Given the description of an element on the screen output the (x, y) to click on. 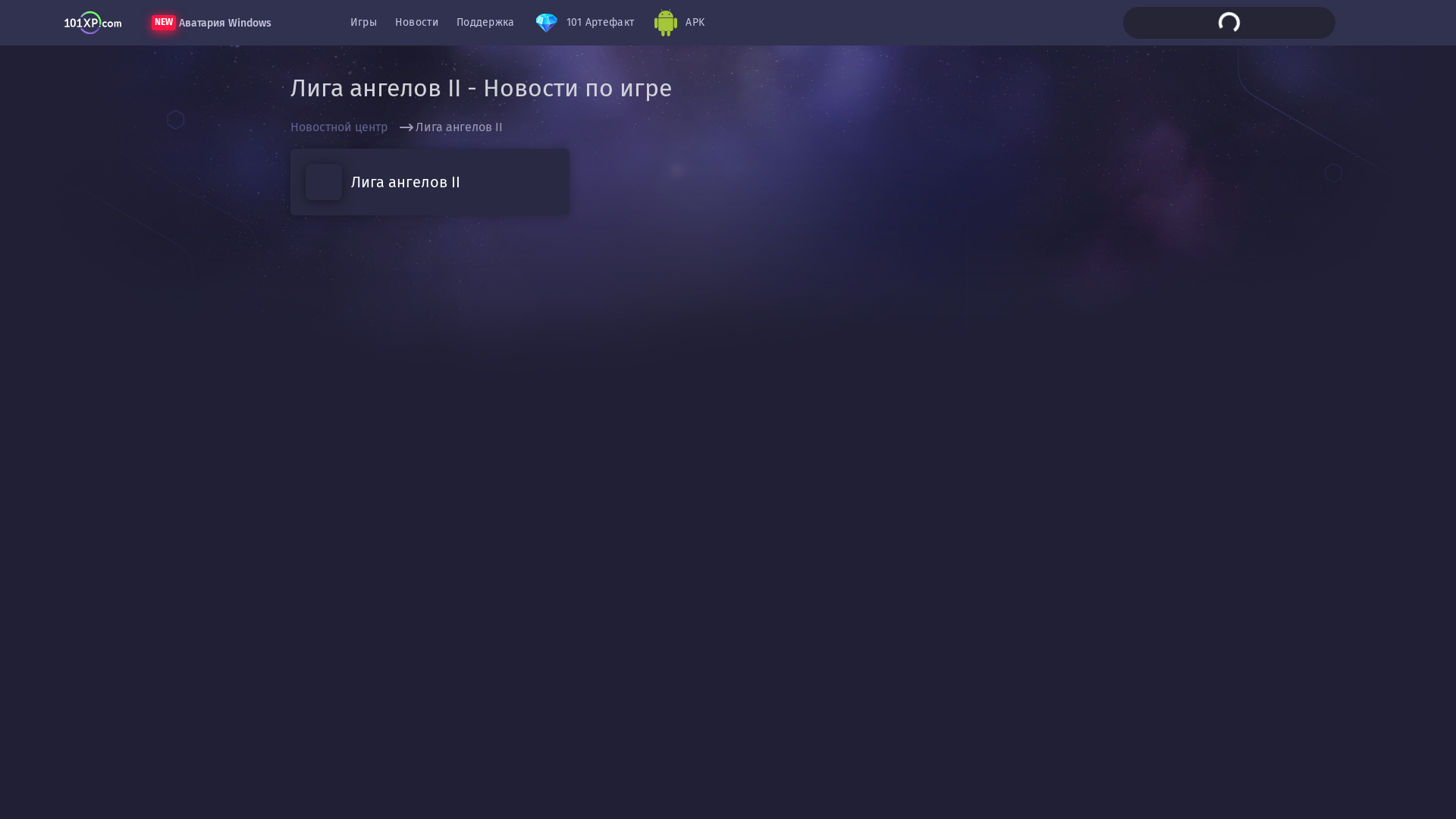
APK Element type: text (678, 22)
